Given the description of an element on the screen output the (x, y) to click on. 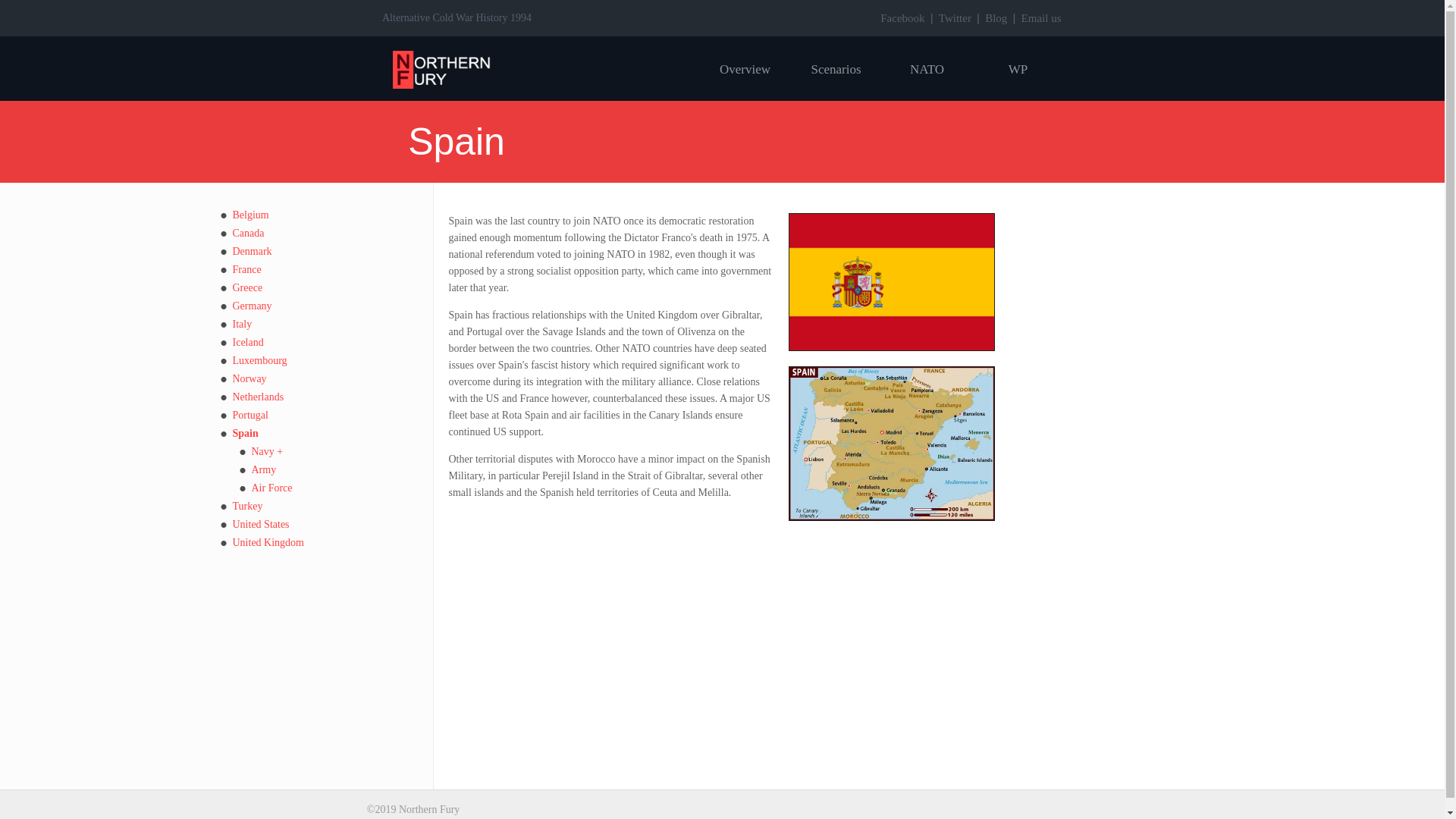
Twitter (955, 18)
Scenarios (835, 69)
Overview (744, 69)
Facebook (902, 18)
Blog (996, 18)
Email us (1041, 18)
